Given the description of an element on the screen output the (x, y) to click on. 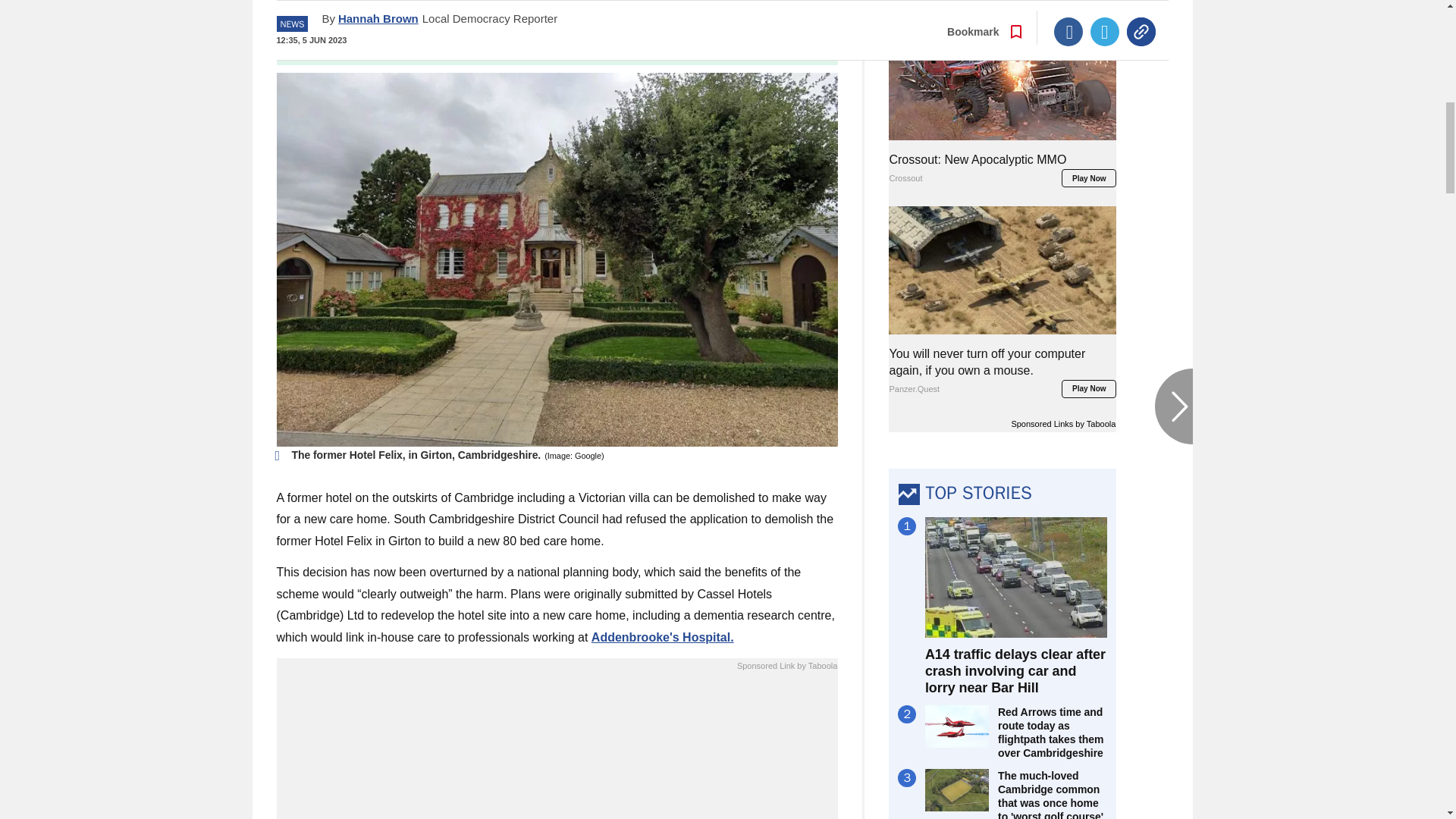
Go (730, 38)
